Given the description of an element on the screen output the (x, y) to click on. 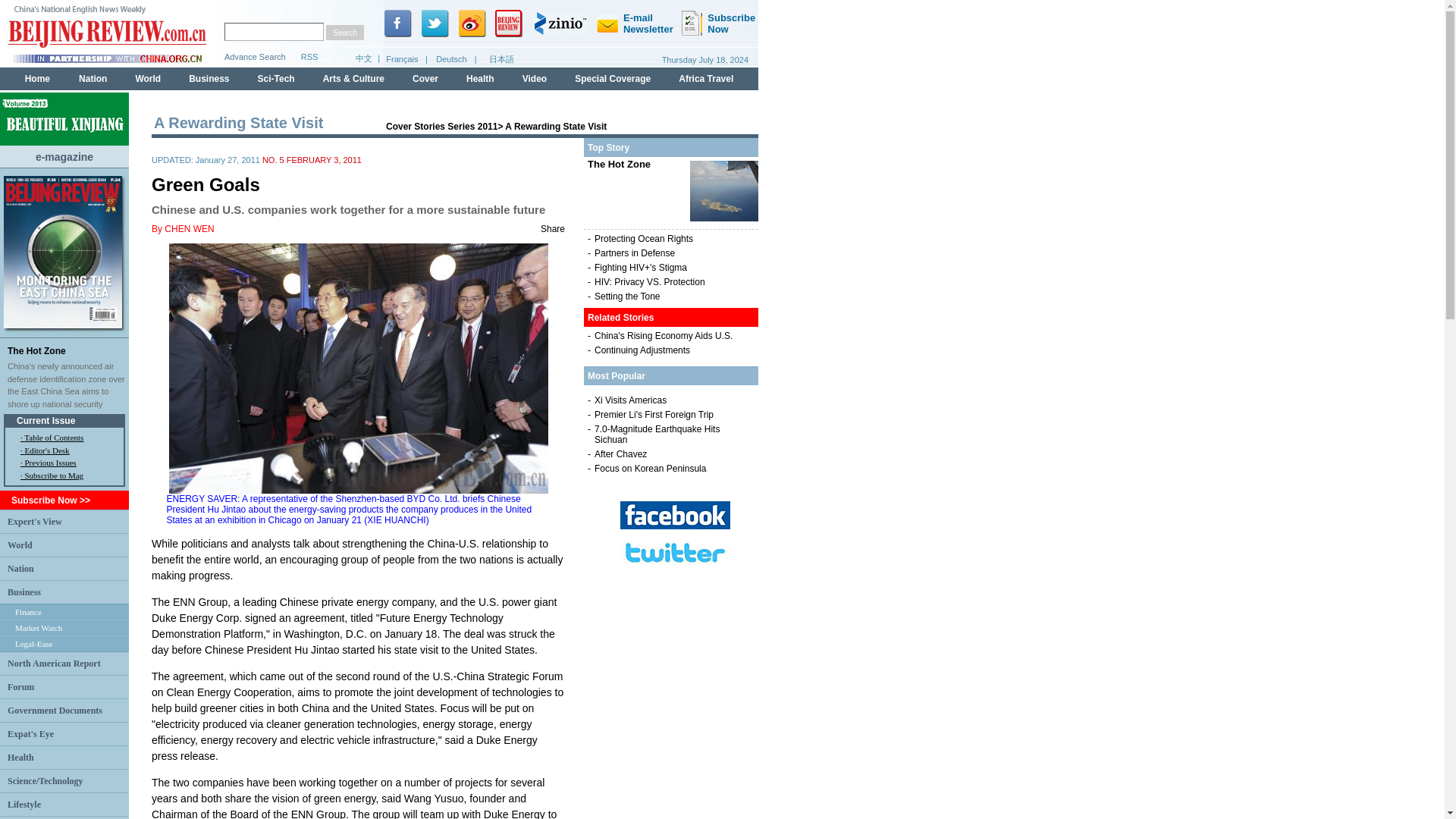
Lifestyle (23, 804)
Market Watch (38, 627)
Expat's Eye (30, 733)
Business (23, 592)
Nation (20, 567)
Finance (28, 611)
Health (20, 757)
Forum (20, 685)
Editor's Desk (46, 450)
Expert's View (34, 520)
Previous Issues (49, 461)
Current Issue (45, 420)
North American Report (53, 663)
Government Documents (54, 710)
